Given the description of an element on the screen output the (x, y) to click on. 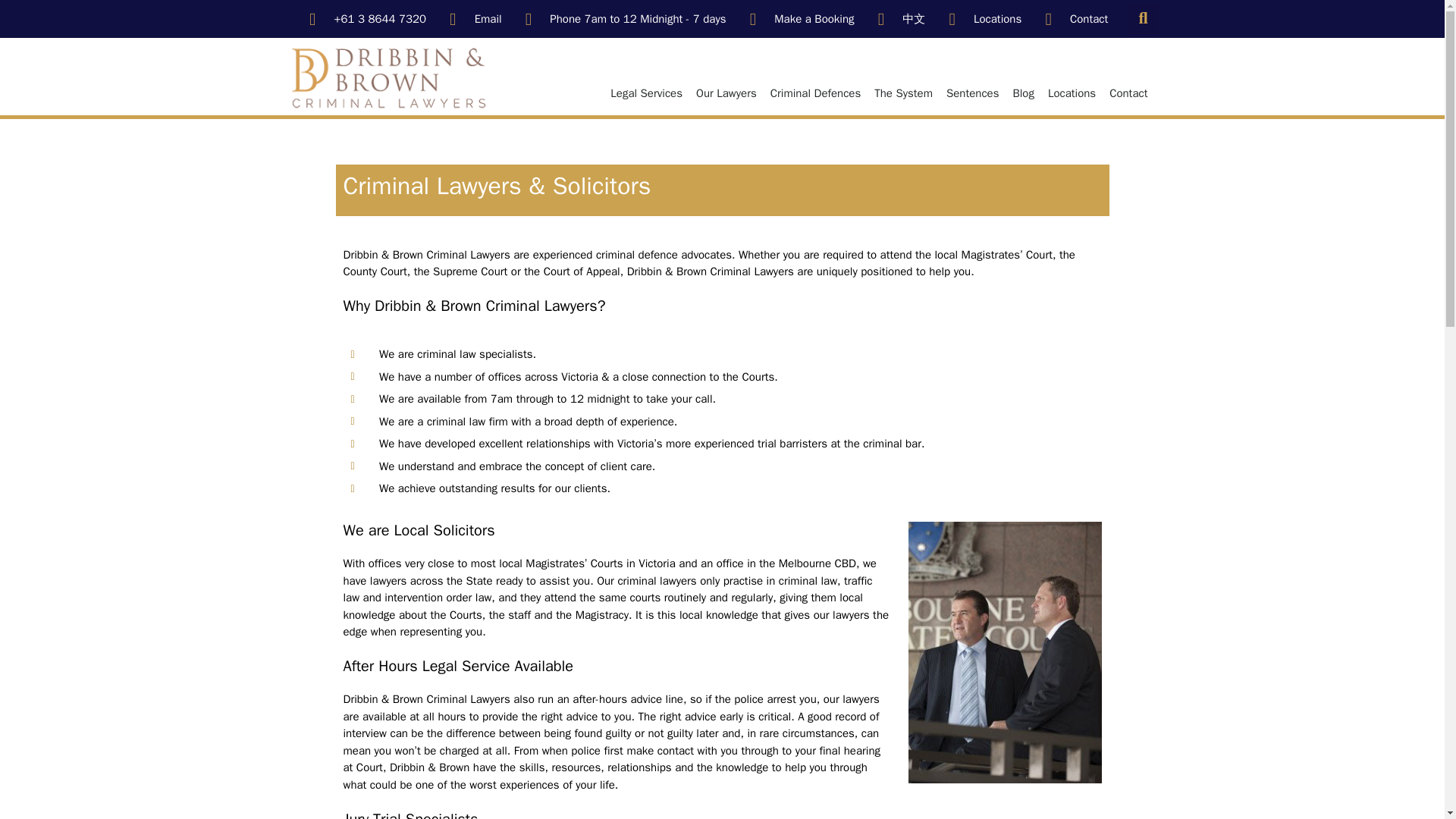
Phone 7am to 12 Midnight - 7 days (622, 18)
Make a Booking (798, 18)
Our Lawyers (725, 93)
Criminal Defences (814, 93)
Email (472, 18)
Locations (1071, 93)
Locations (981, 18)
Legal Services (646, 93)
Sentences (972, 93)
The System (903, 93)
Contact (1072, 18)
Contact (1128, 93)
